Given the description of an element on the screen output the (x, y) to click on. 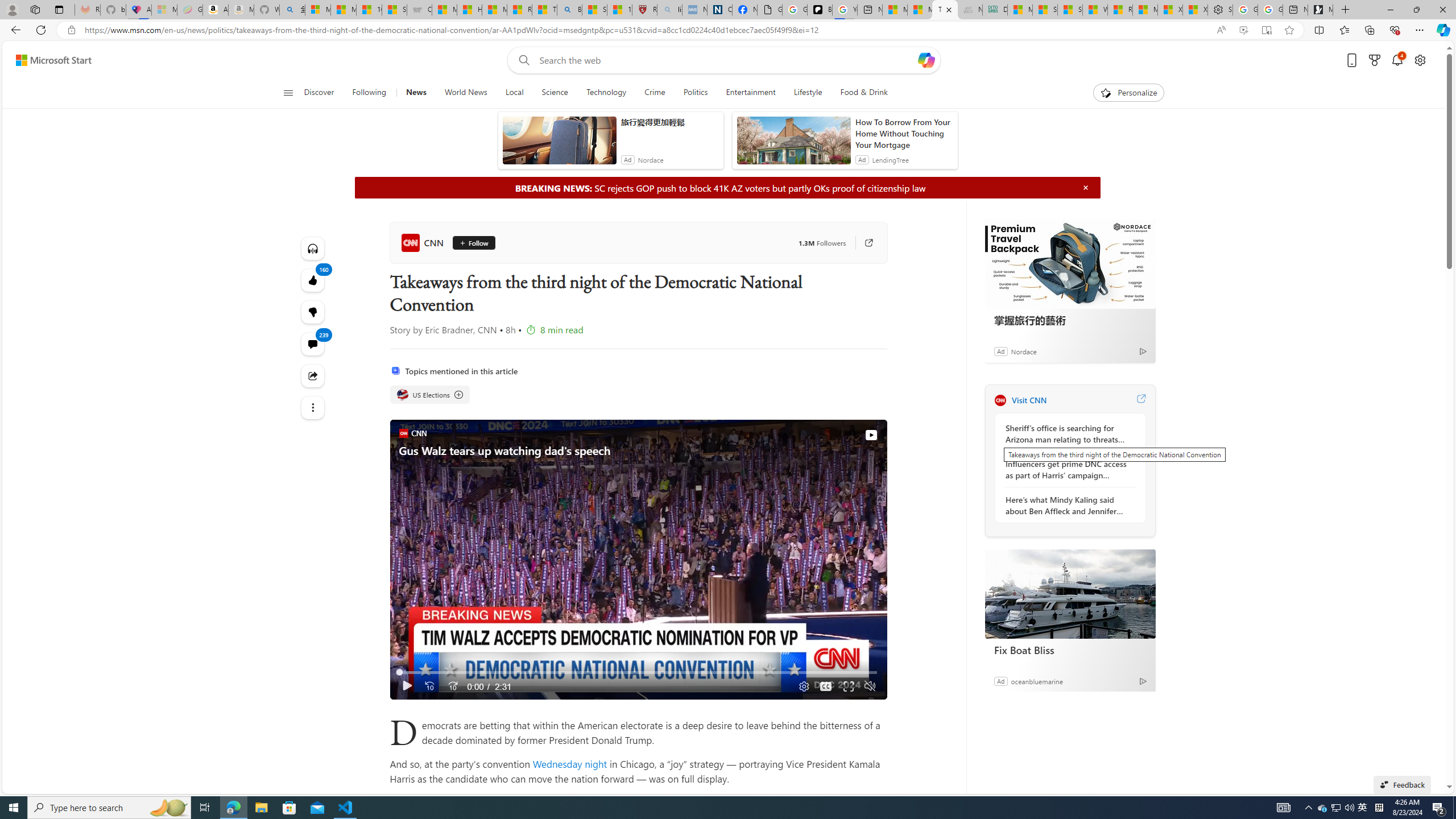
Ad Choice (1142, 680)
Science - MSN (593, 9)
CNN (1000, 399)
How To Borrow From Your Home Without Touching Your Mortgage (903, 133)
Microsoft-Report a Concern to Bing - Sleeping (164, 9)
Open navigation menu (287, 92)
Google Analytics Opt-out Browser Add-on Download Page (769, 9)
Lifestyle (807, 92)
